Given the description of an element on the screen output the (x, y) to click on. 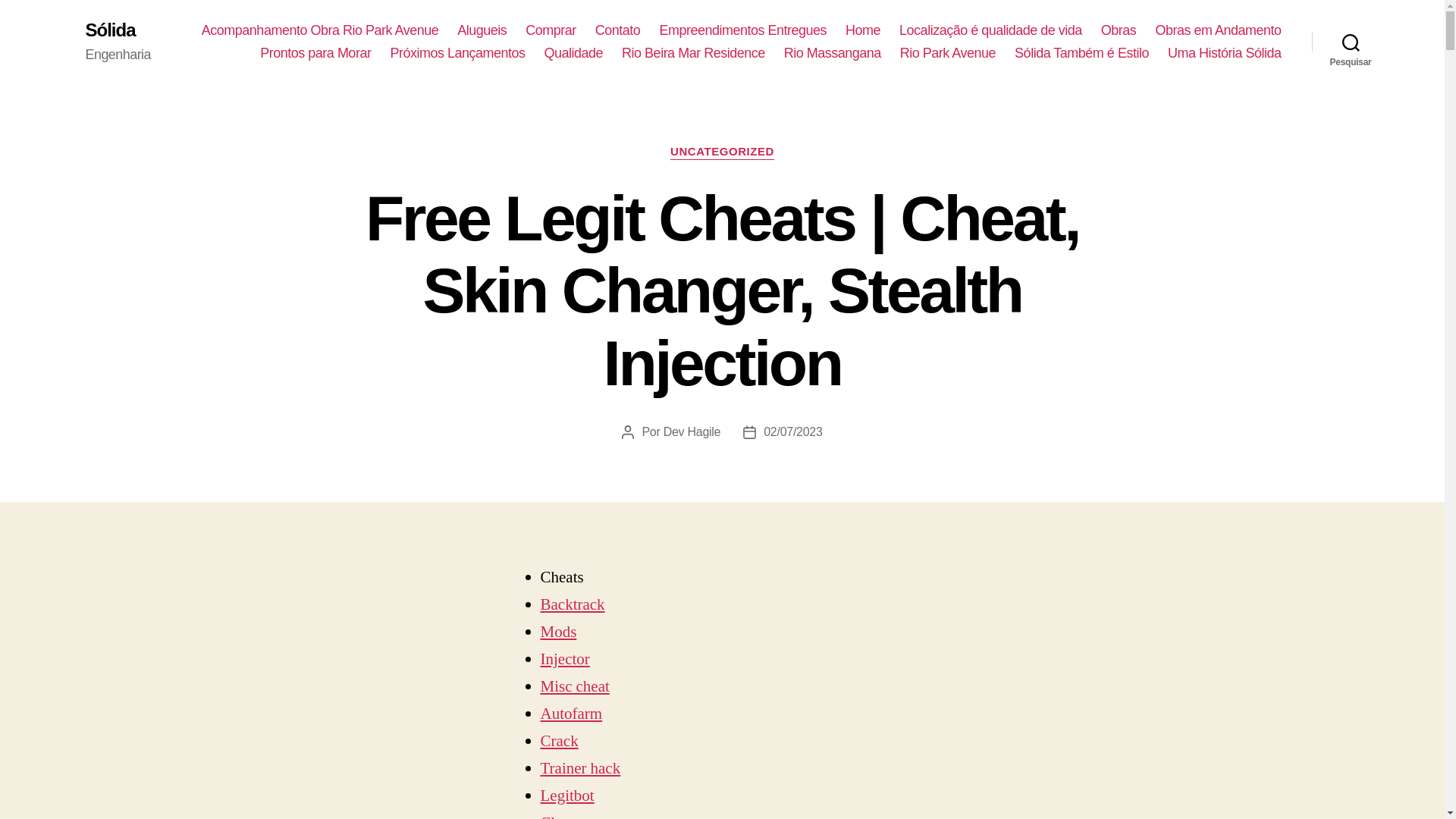
Comprar (550, 30)
Obras (1118, 30)
Rio Beira Mar Residence (693, 53)
Home (862, 30)
Rio Massangana (832, 53)
Alugueis (481, 30)
Obras em Andamento (1217, 30)
Prontos para Morar (315, 53)
Empreendimentos Entregues (743, 30)
Qualidade (574, 53)
Contato (617, 30)
Acompanhamento Obra Rio Park Avenue (320, 30)
Rio Park Avenue (947, 53)
Pesquisar (1350, 41)
